Given the description of an element on the screen output the (x, y) to click on. 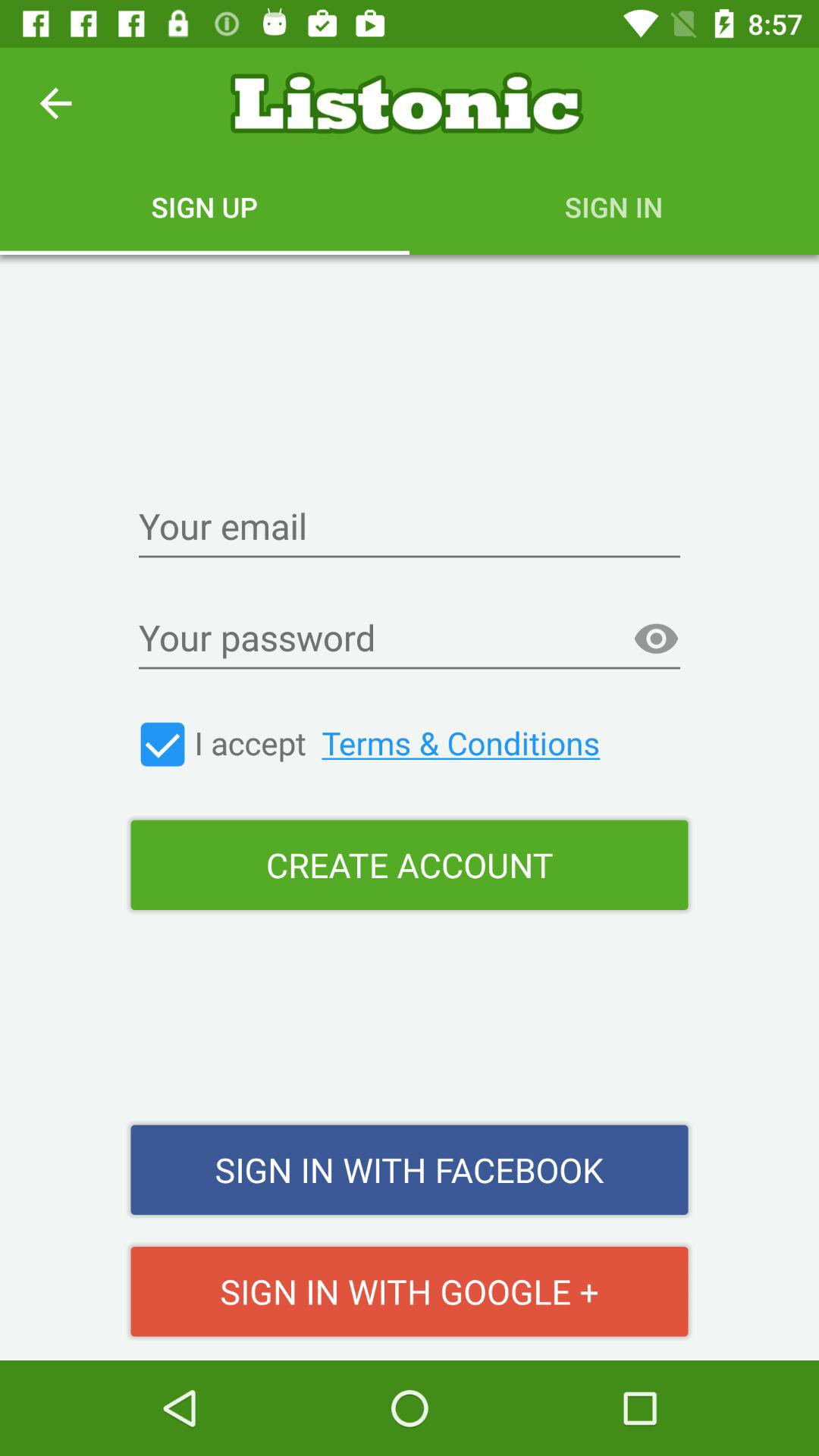
turn on icon above sign in with (409, 865)
